Given the description of an element on the screen output the (x, y) to click on. 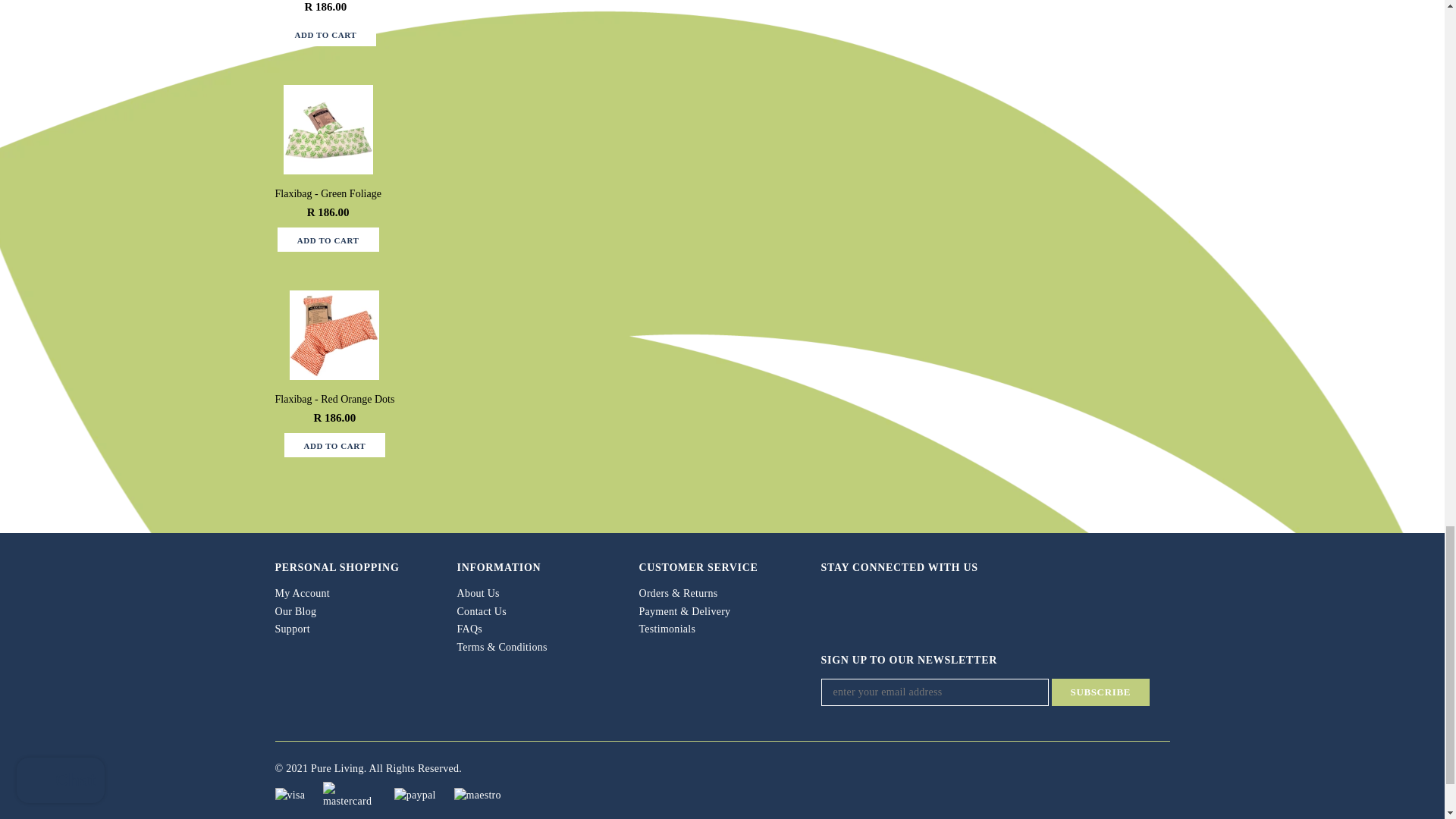
Add to Cart (328, 239)
Subscribe (1100, 691)
Add to Cart (334, 444)
Add to Cart (325, 33)
